Given the description of an element on the screen output the (x, y) to click on. 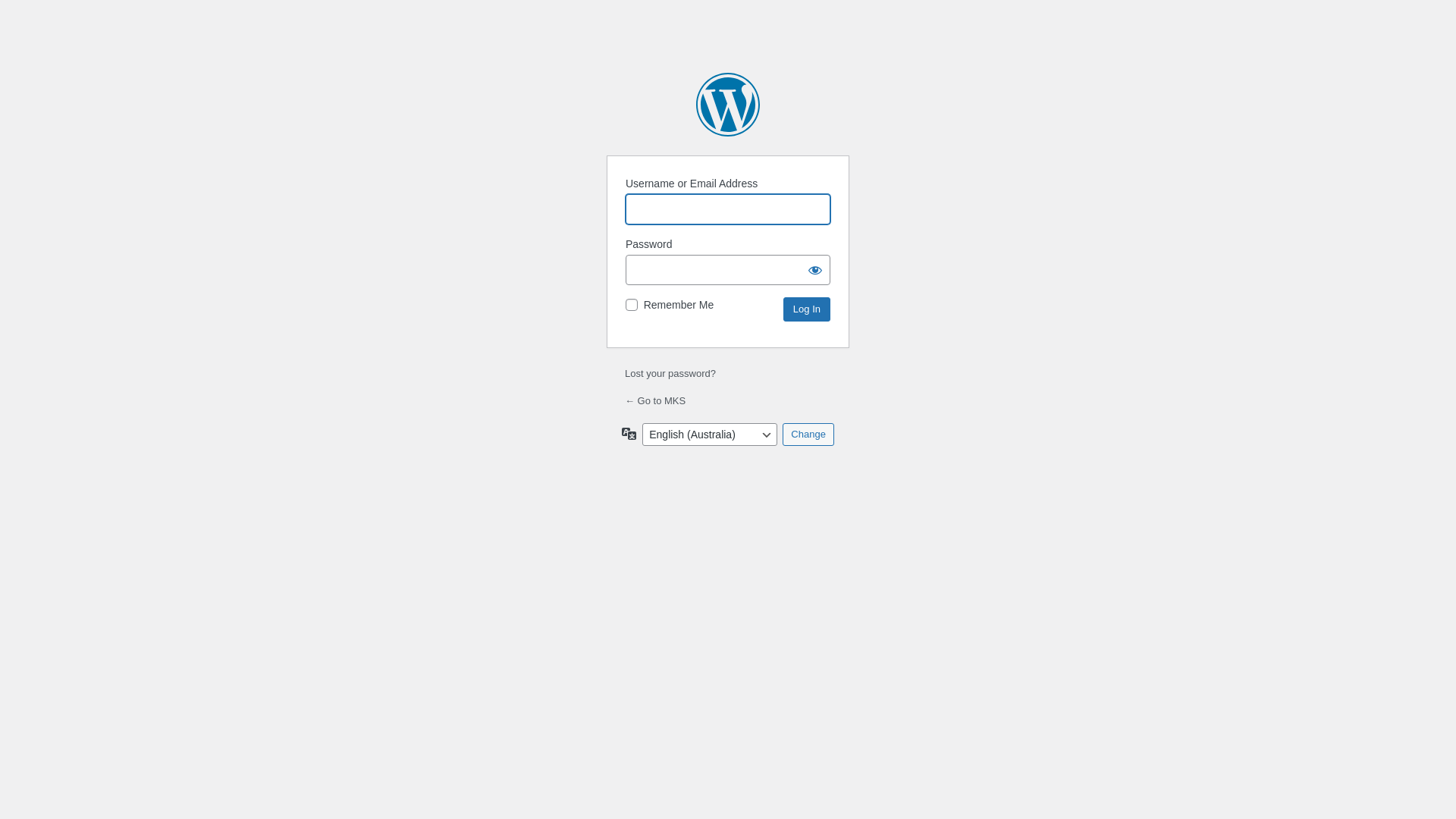
Lost your password? Element type: text (669, 373)
Log In Element type: text (806, 309)
Change Element type: text (808, 434)
Powered by WordPress Element type: text (727, 104)
